Given the description of an element on the screen output the (x, y) to click on. 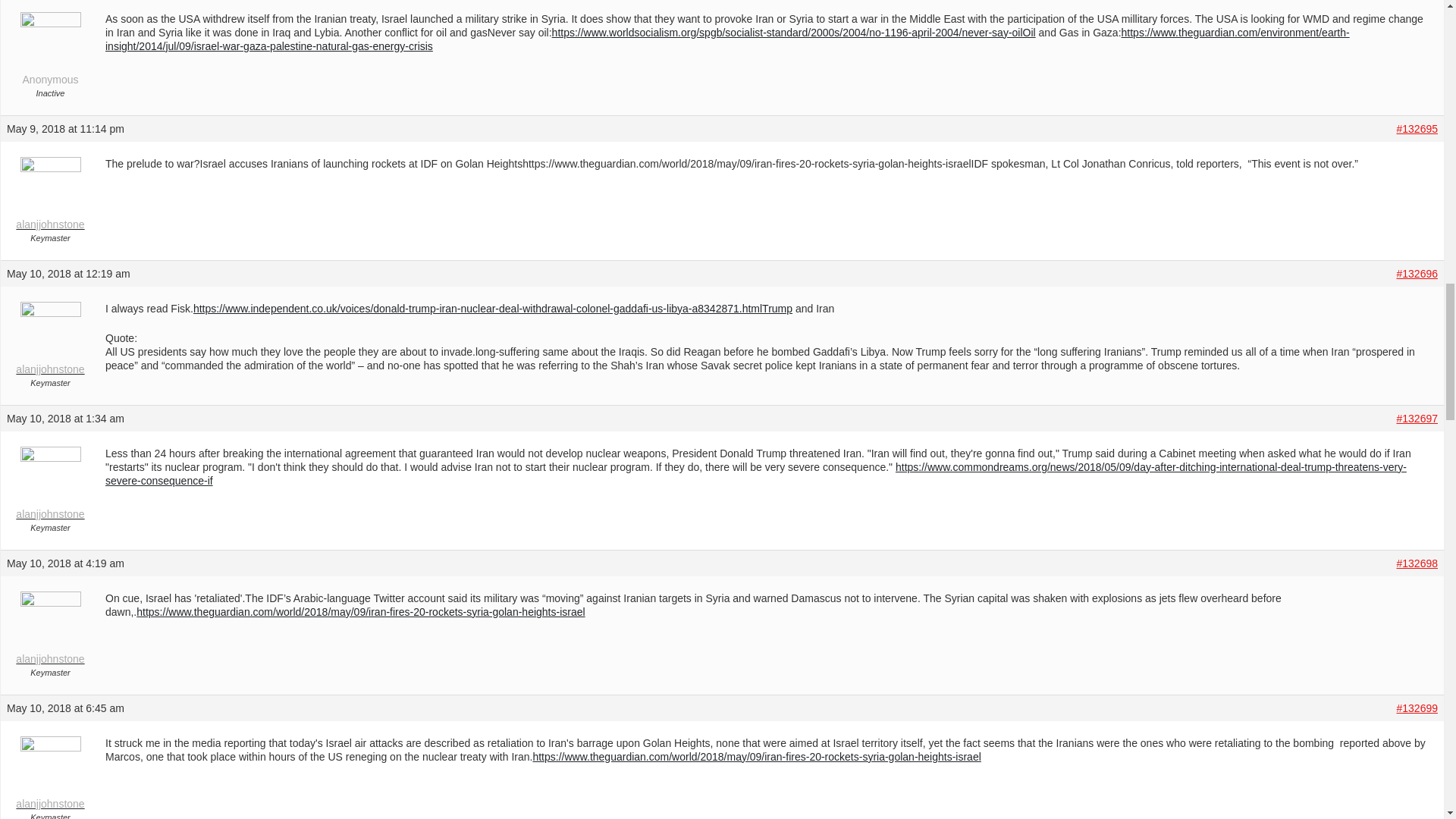
View alanjjohnstone's profile (50, 341)
View alanjjohnstone's profile (50, 631)
View alanjjohnstone's profile (50, 776)
View alanjjohnstone's profile (50, 486)
View alanjjohnstone's profile (50, 196)
